Given the description of an element on the screen output the (x, y) to click on. 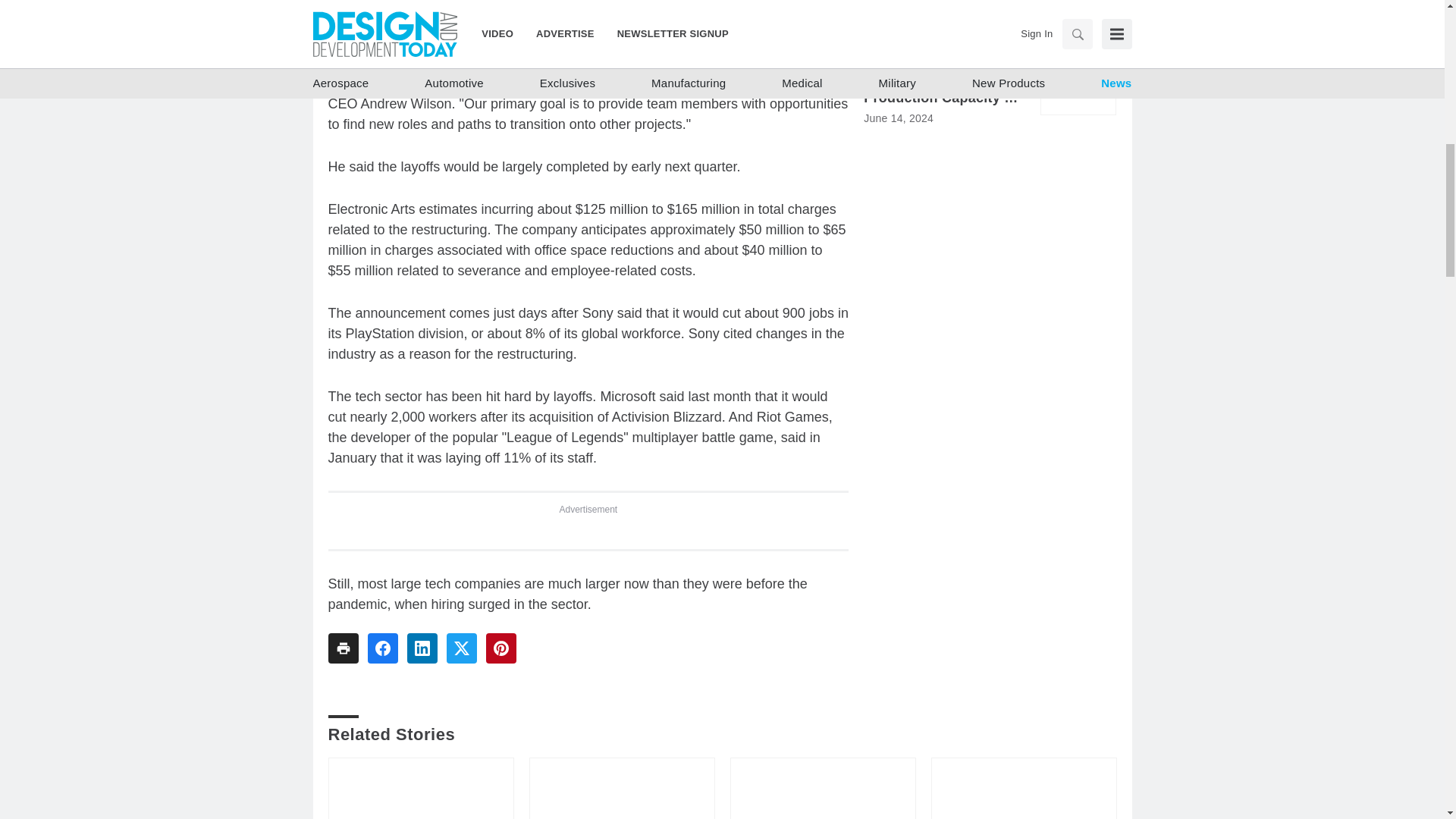
Share To linkedin (421, 648)
Share To facebook (381, 648)
Share To print (342, 648)
Share To twitter (460, 648)
Share To pinterest (499, 648)
